Given the description of an element on the screen output the (x, y) to click on. 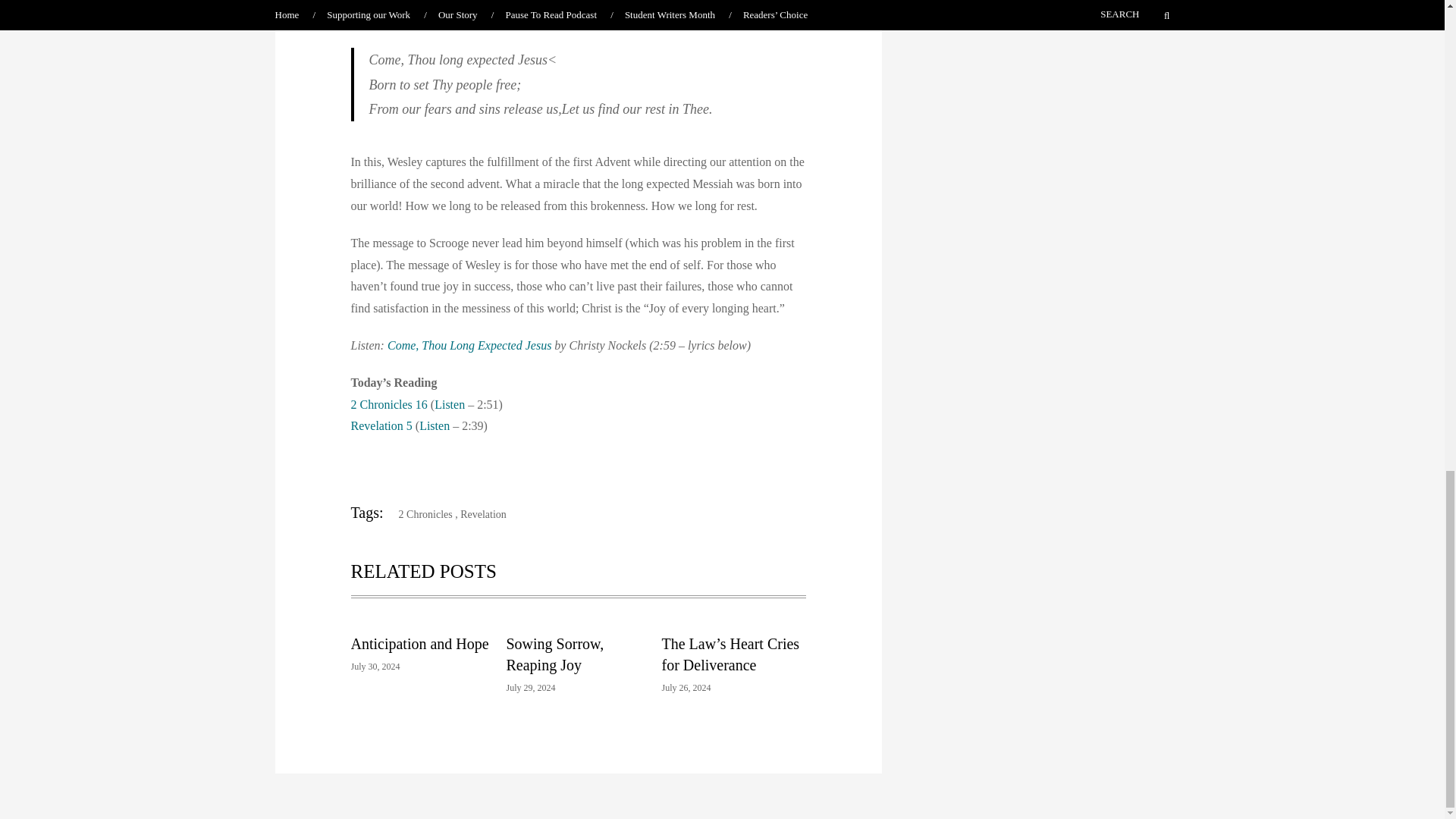
Listen (434, 425)
Revelation 5 (381, 425)
Listen (448, 404)
2 Chronicles 16 (388, 404)
Come, Thou Long Expected Jesus (469, 345)
Sowing Sorrow, Reaping Joy (555, 654)
Revelation (483, 514)
2 Chronicles (419, 514)
Anticipation and Hope (418, 643)
